Given the description of an element on the screen output the (x, y) to click on. 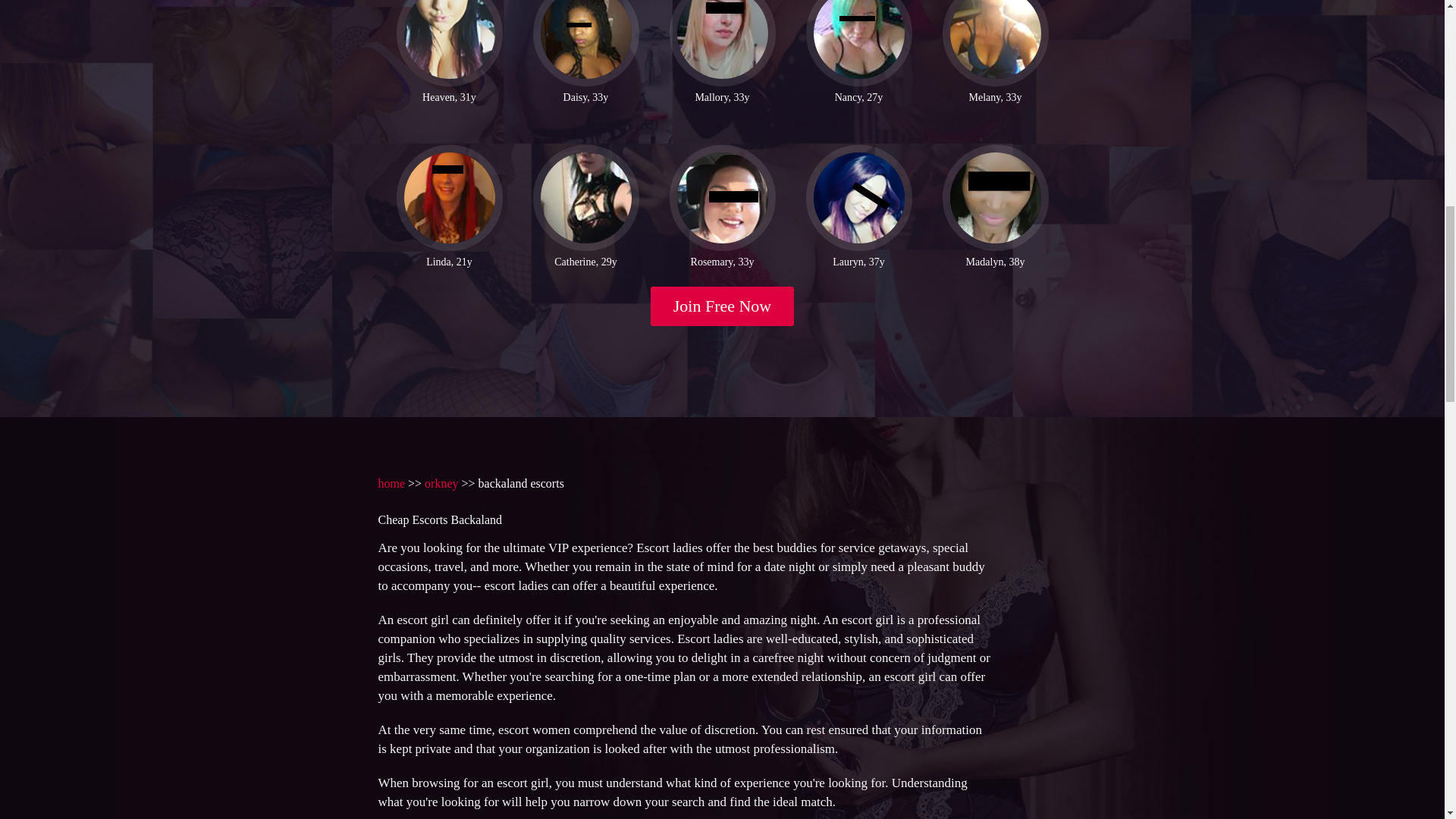
orkney (441, 482)
Join (722, 305)
home (390, 482)
Join Free Now (722, 305)
